Given the description of an element on the screen output the (x, y) to click on. 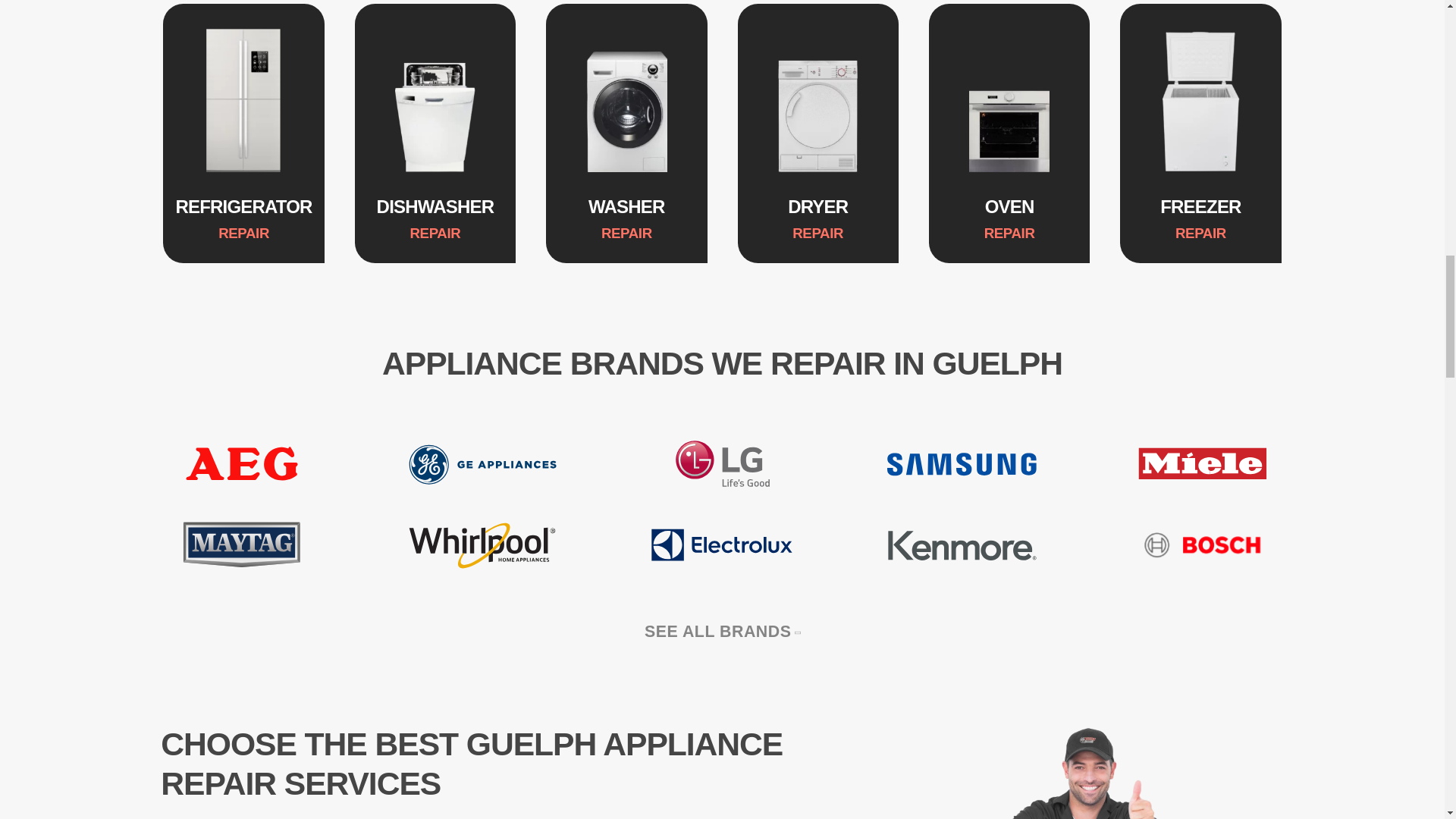
SEE ALL BRANDS (722, 631)
